Given the description of an element on the screen output the (x, y) to click on. 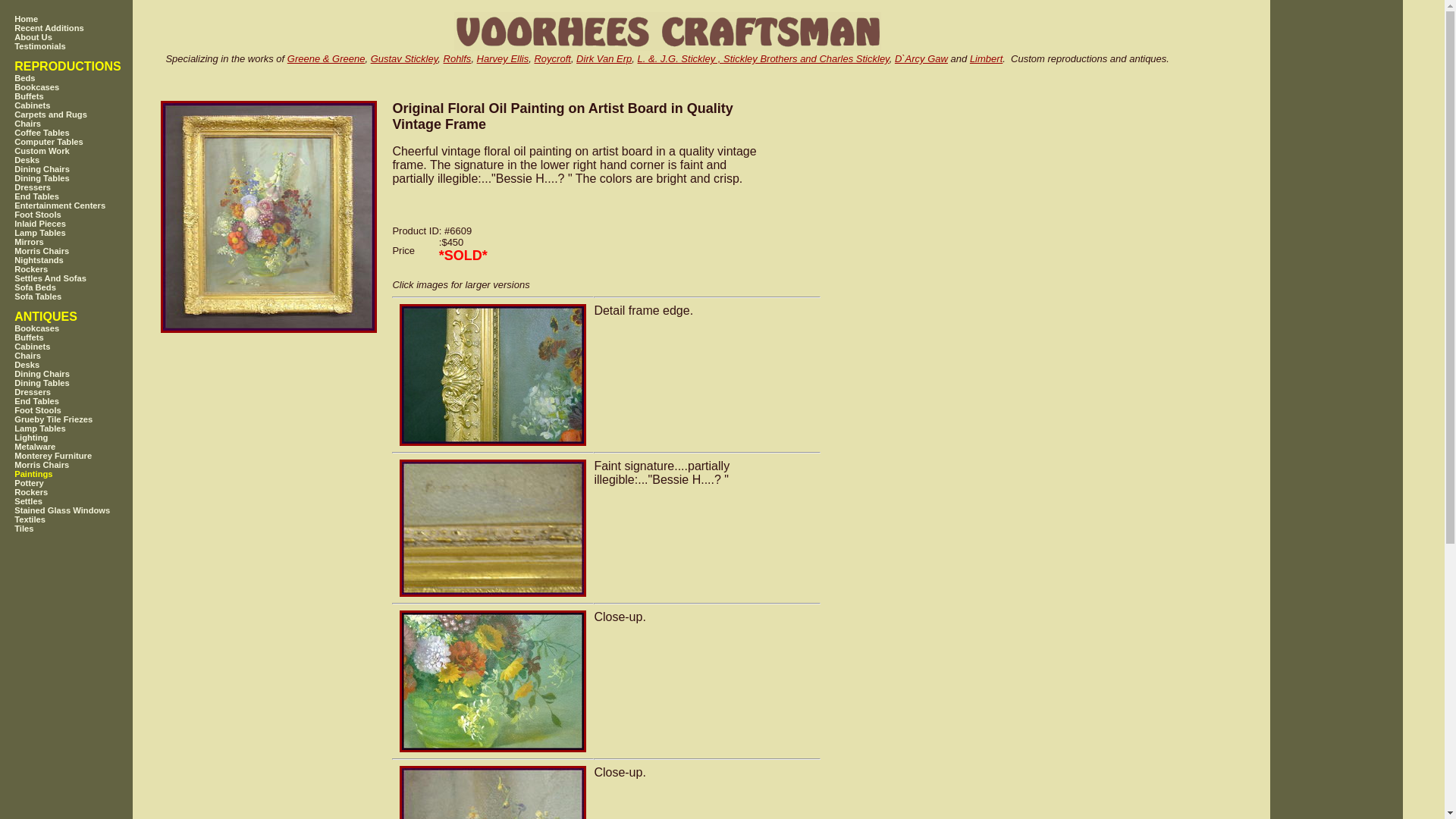
Dining Chairs (82, 373)
Entertainment Centers (82, 204)
Cabinets (82, 346)
Coffee Tables (82, 132)
Buffets (82, 95)
Dining Tables (82, 382)
Nightstands (82, 259)
Chairs (82, 355)
Testimonials (82, 45)
Foot Stools (82, 409)
Dining Tables (82, 177)
Chairs (82, 122)
Recent Additions (82, 27)
Foot Stools (82, 214)
Computer Tables (82, 141)
